Given the description of an element on the screen output the (x, y) to click on. 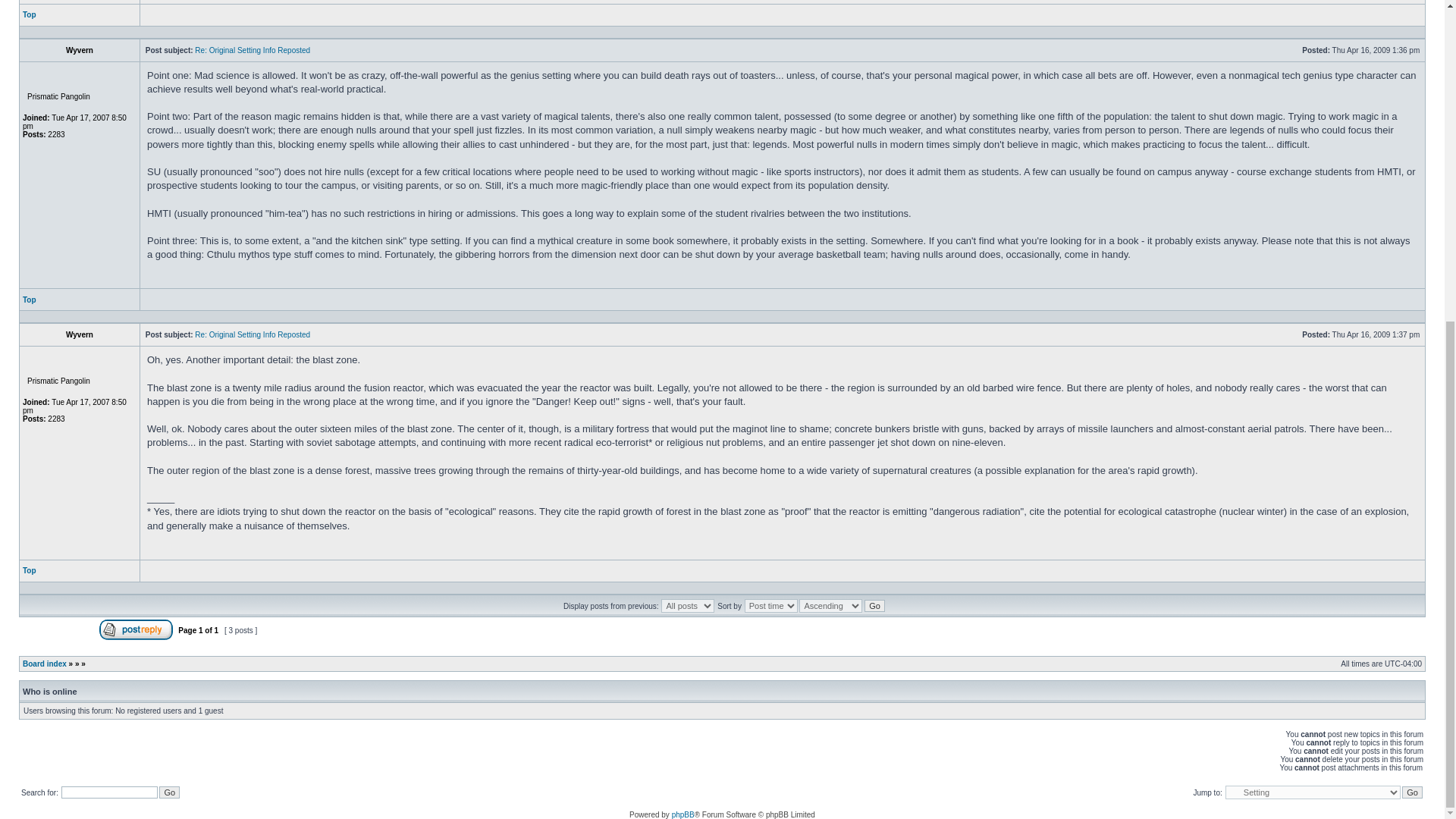
Post (1296, 49)
Post (1296, 49)
Post new topic (57, 637)
Go (1412, 792)
Profile (171, 570)
Reply with quote (1383, 298)
Reply to topic (136, 637)
Reply with quote (1383, 570)
Reply to topic (136, 629)
Top (29, 299)
Top (29, 570)
Profile (171, 574)
Re: Original Setting Info Reposted (252, 49)
Go (168, 792)
Reply with quote (1383, 19)
